Given the description of an element on the screen output the (x, y) to click on. 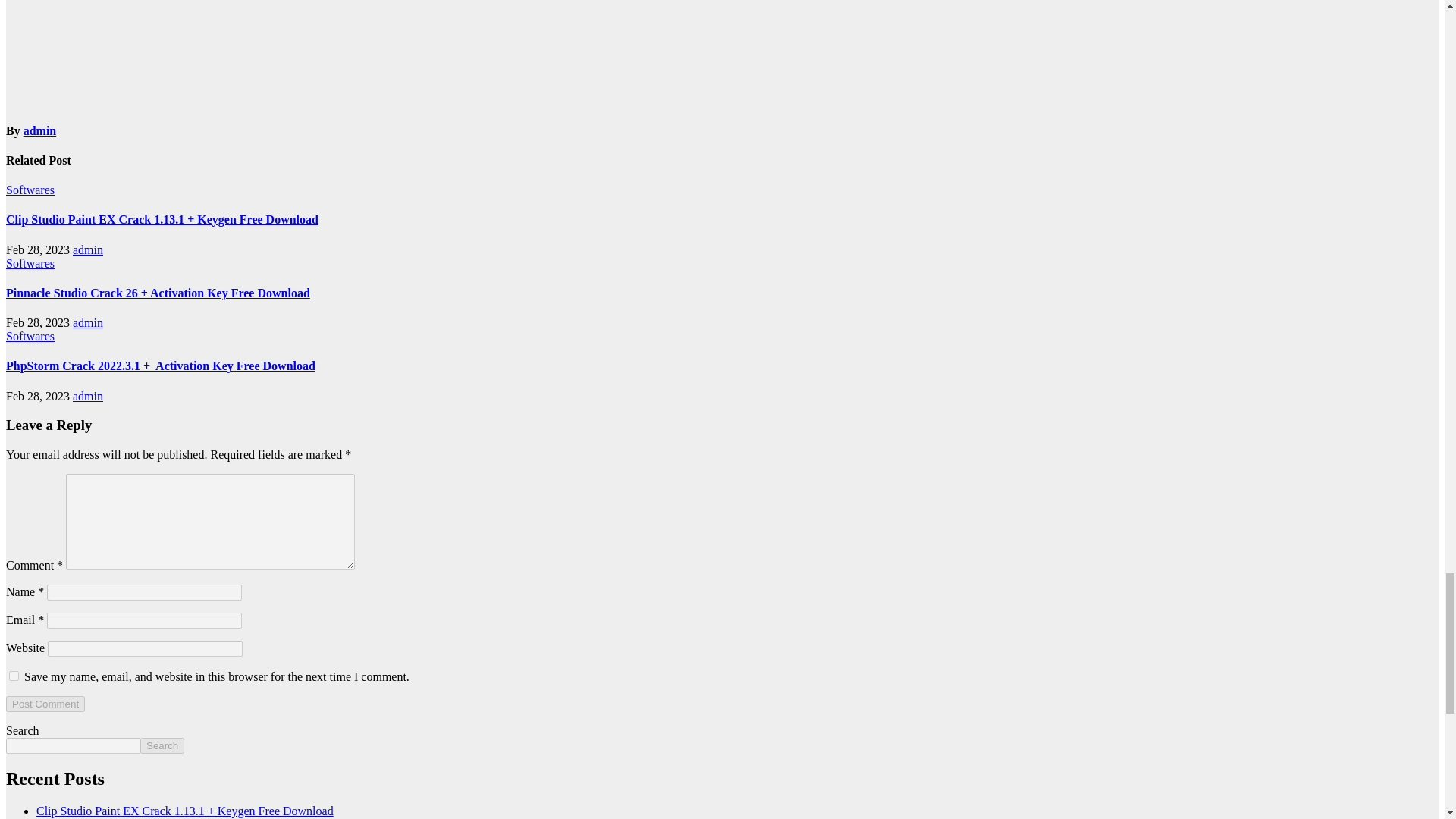
Post Comment (44, 703)
yes (13, 675)
